Given the description of an element on the screen output the (x, y) to click on. 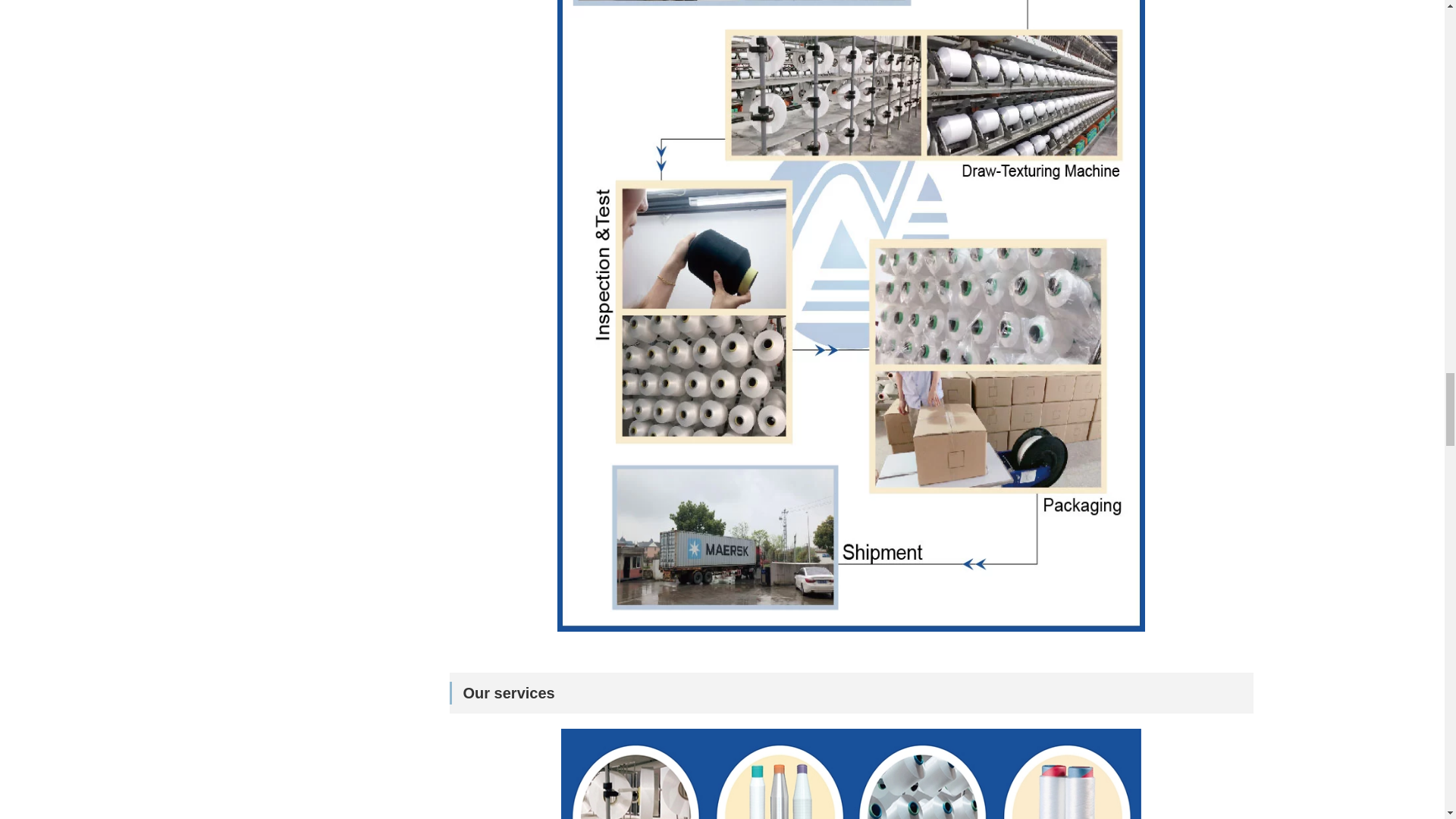
Our services (850, 745)
